Given the description of an element on the screen output the (x, y) to click on. 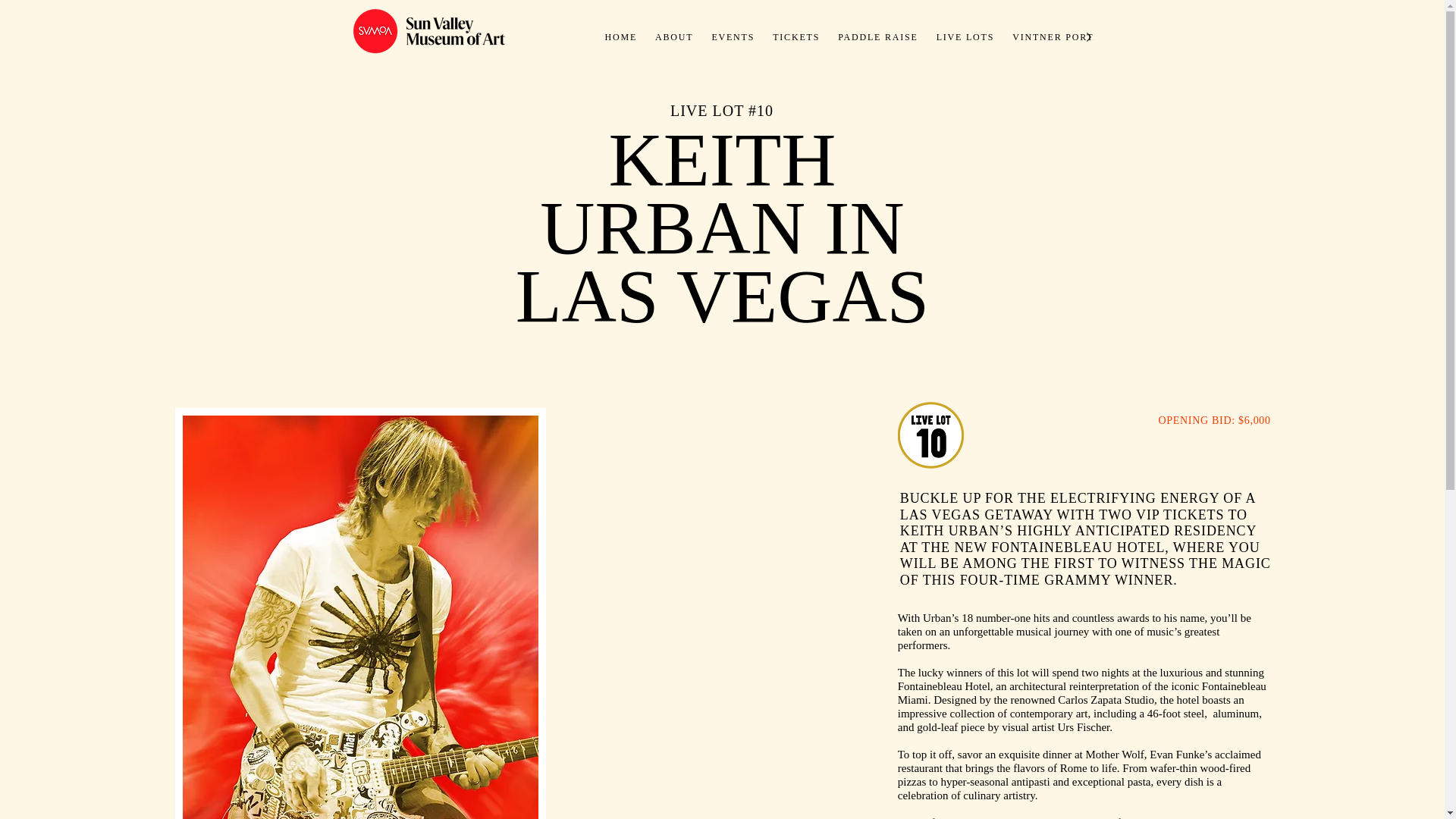
VINTNER PORTAL (1059, 36)
ABOUT (673, 36)
HOME (620, 36)
EVENTS (732, 36)
LIVE LOTS (965, 36)
TICKETS (796, 36)
PADDLE RAISE (877, 36)
